Given the description of an element on the screen output the (x, y) to click on. 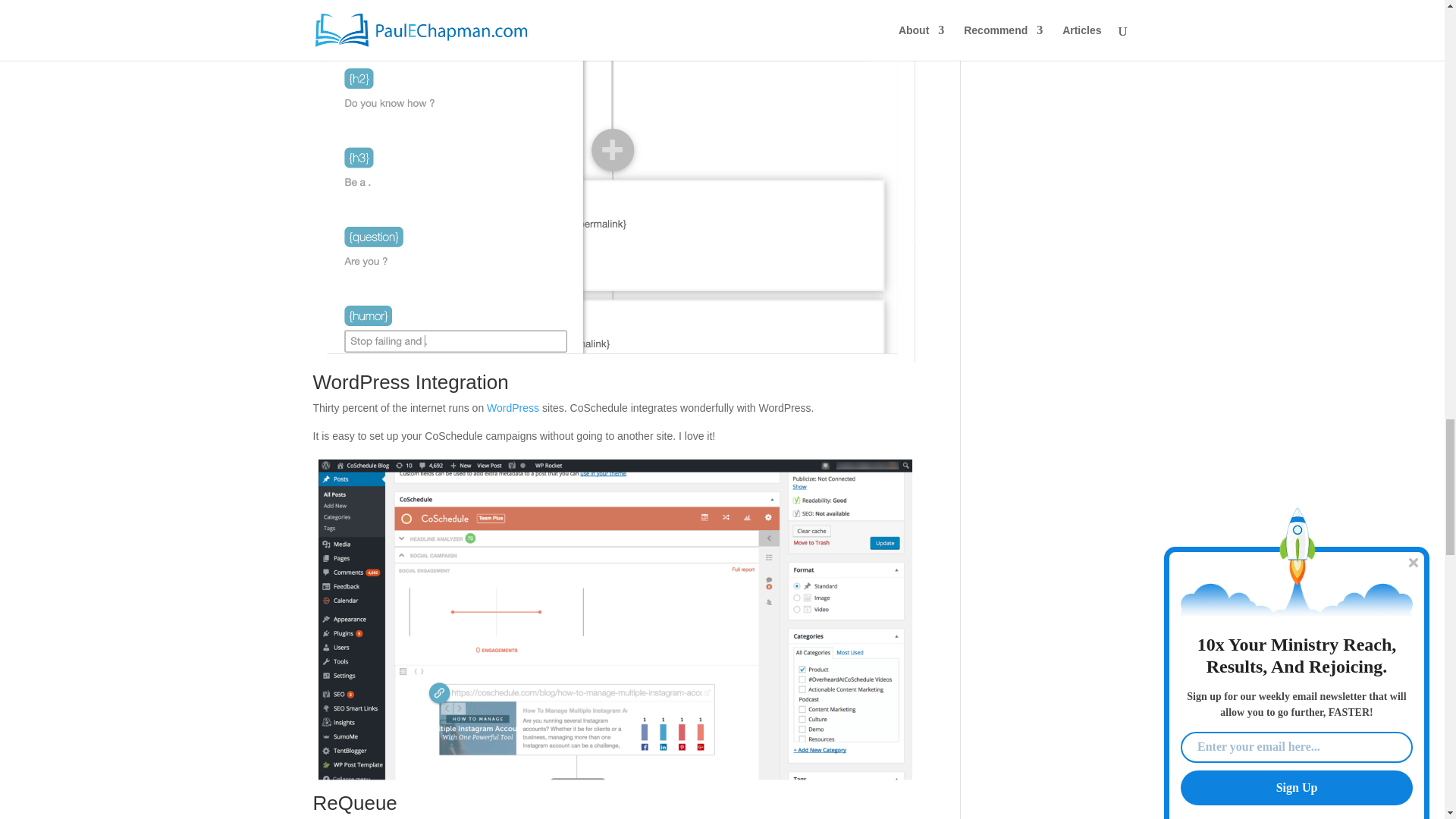
WordPress (512, 408)
